Given the description of an element on the screen output the (x, y) to click on. 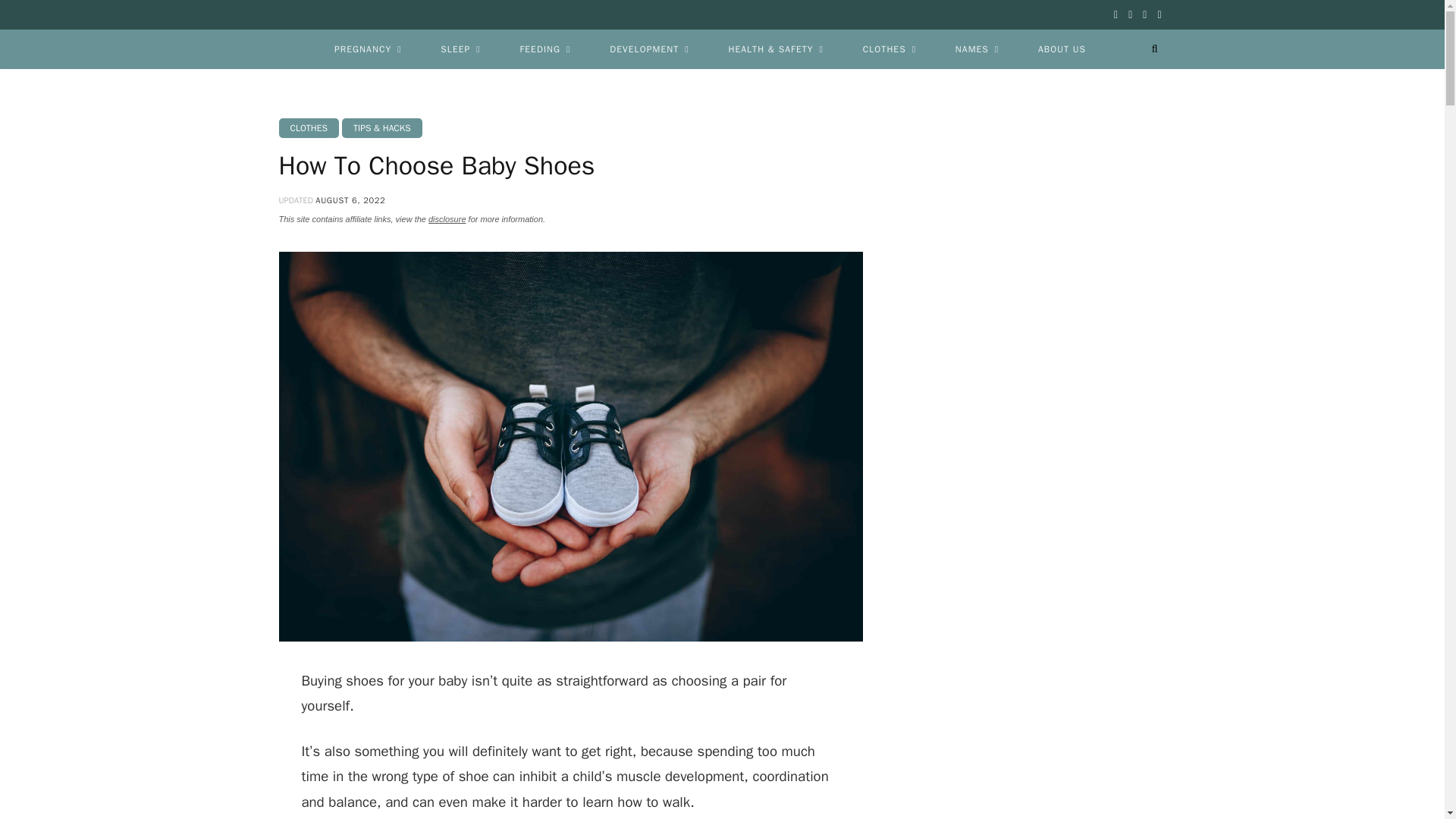
DEVELOPMENT (649, 48)
CLOTHES (889, 48)
SLEEP (460, 48)
disclosure (446, 218)
FEEDING (544, 48)
ABOUT US (1061, 48)
NAMES (976, 48)
AUGUST 6, 2022 (350, 199)
Advertisement (1037, 391)
PREGNANCY (367, 48)
